Given the description of an element on the screen output the (x, y) to click on. 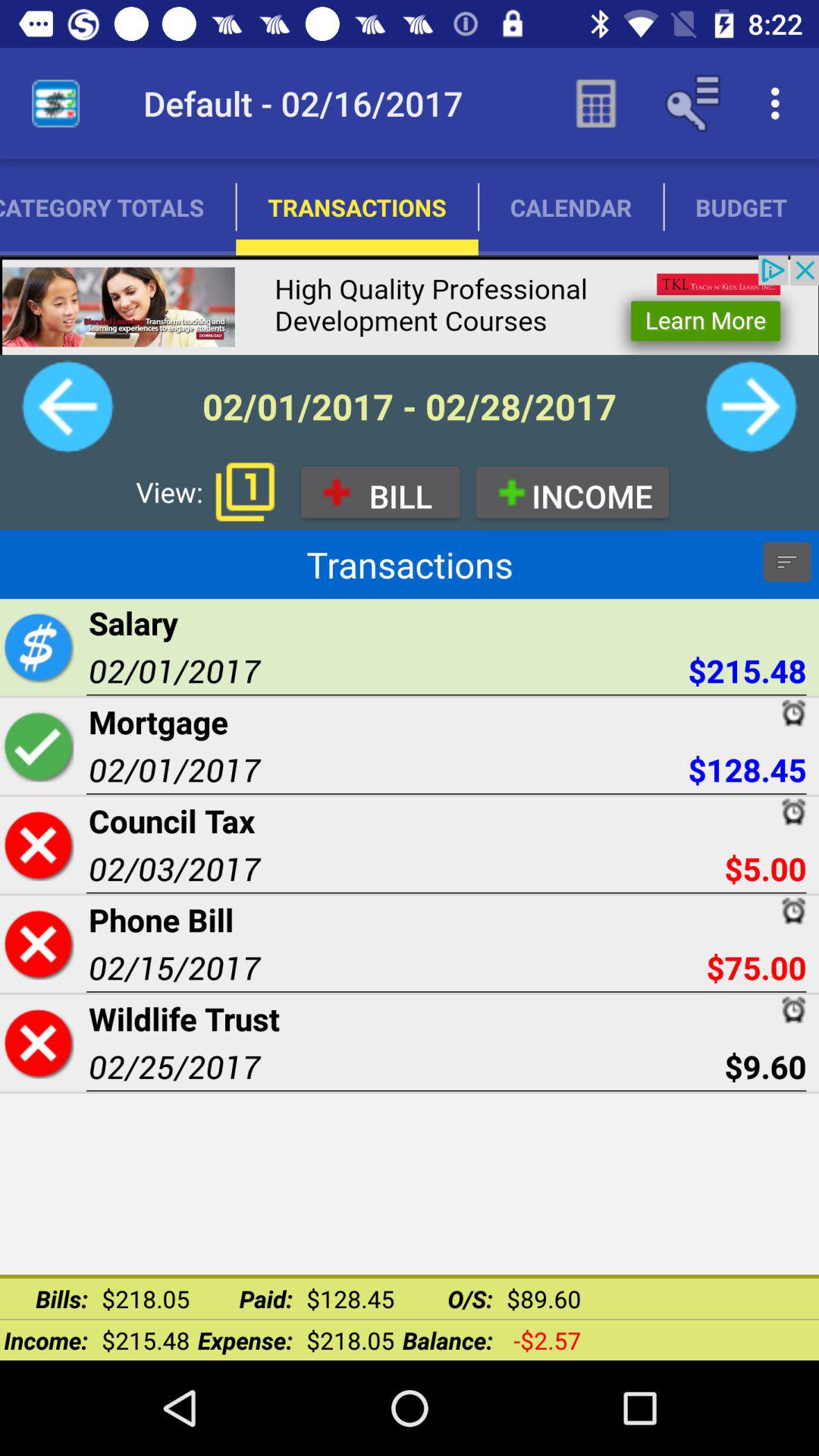
view the next month (751, 406)
